Given the description of an element on the screen output the (x, y) to click on. 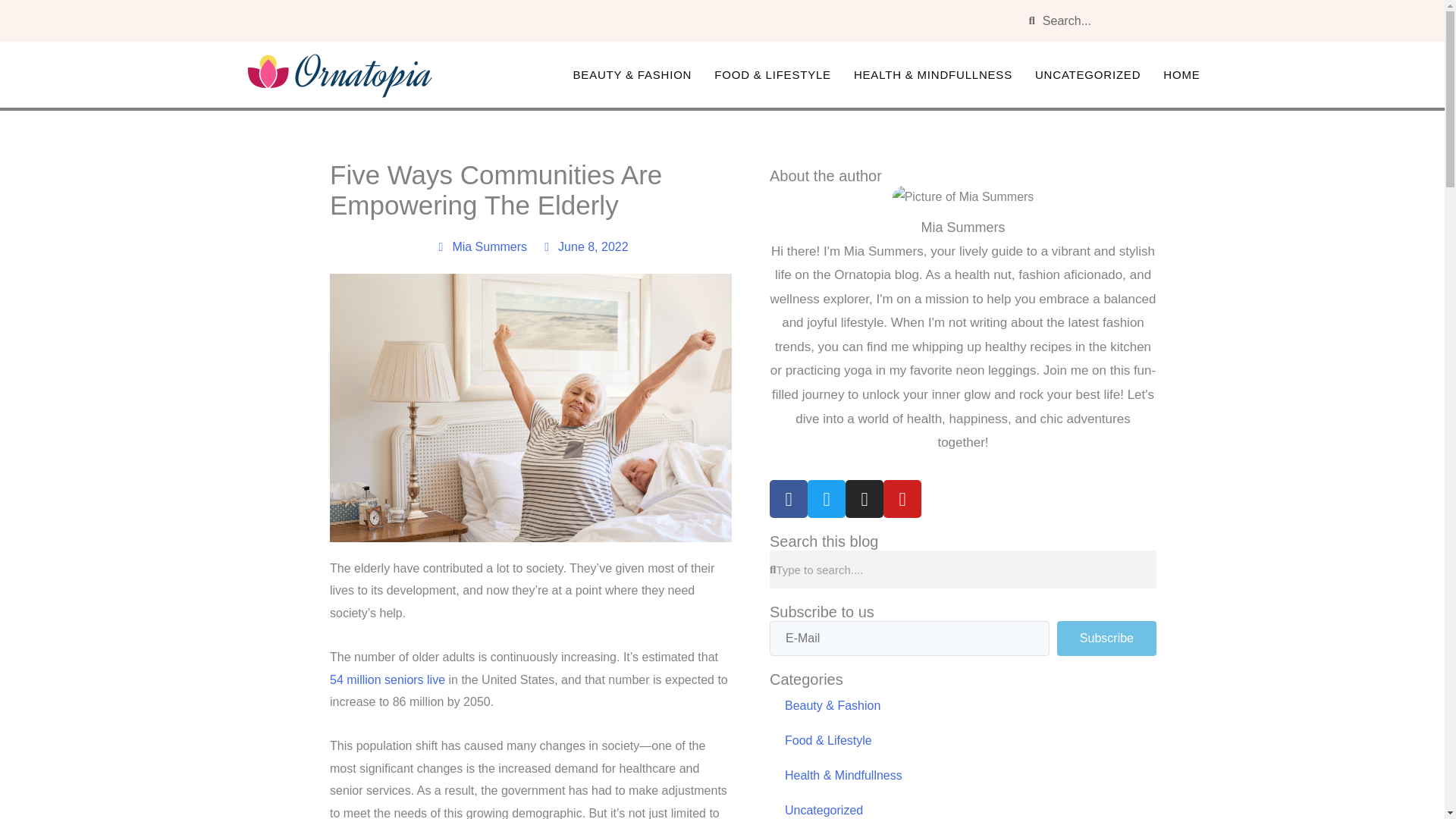
HOME (1181, 74)
Youtube (902, 498)
Mia Summers (479, 246)
Instagram (864, 498)
Facebook (789, 498)
UNCATEGORIZED (1087, 74)
Twitter (826, 498)
Uncategorized (963, 806)
Subscribe (1106, 638)
June 8, 2022 (583, 246)
54 million seniors live (387, 679)
